Given the description of an element on the screen output the (x, y) to click on. 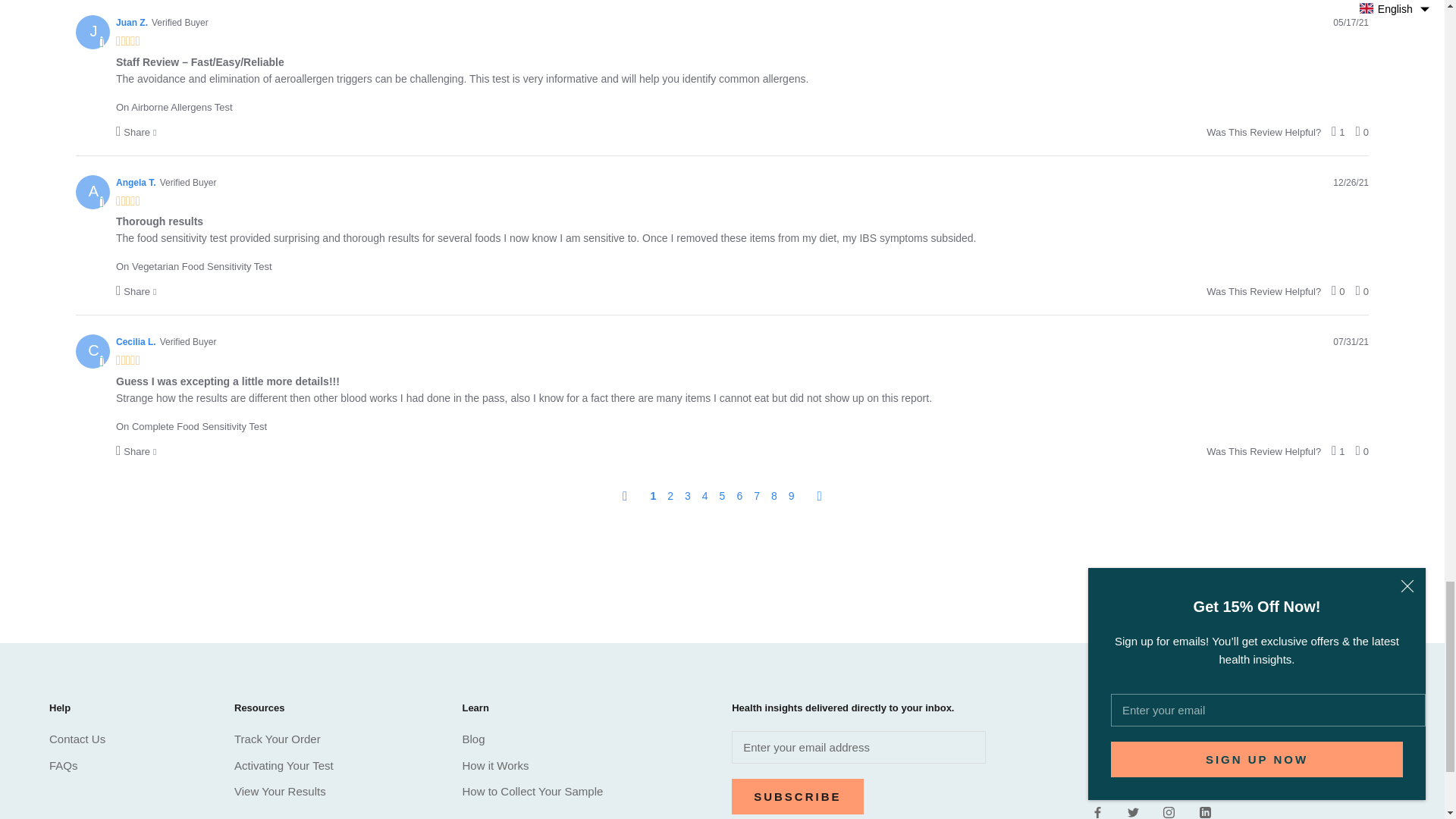
Our Story (1279, 777)
